Given the description of an element on the screen output the (x, y) to click on. 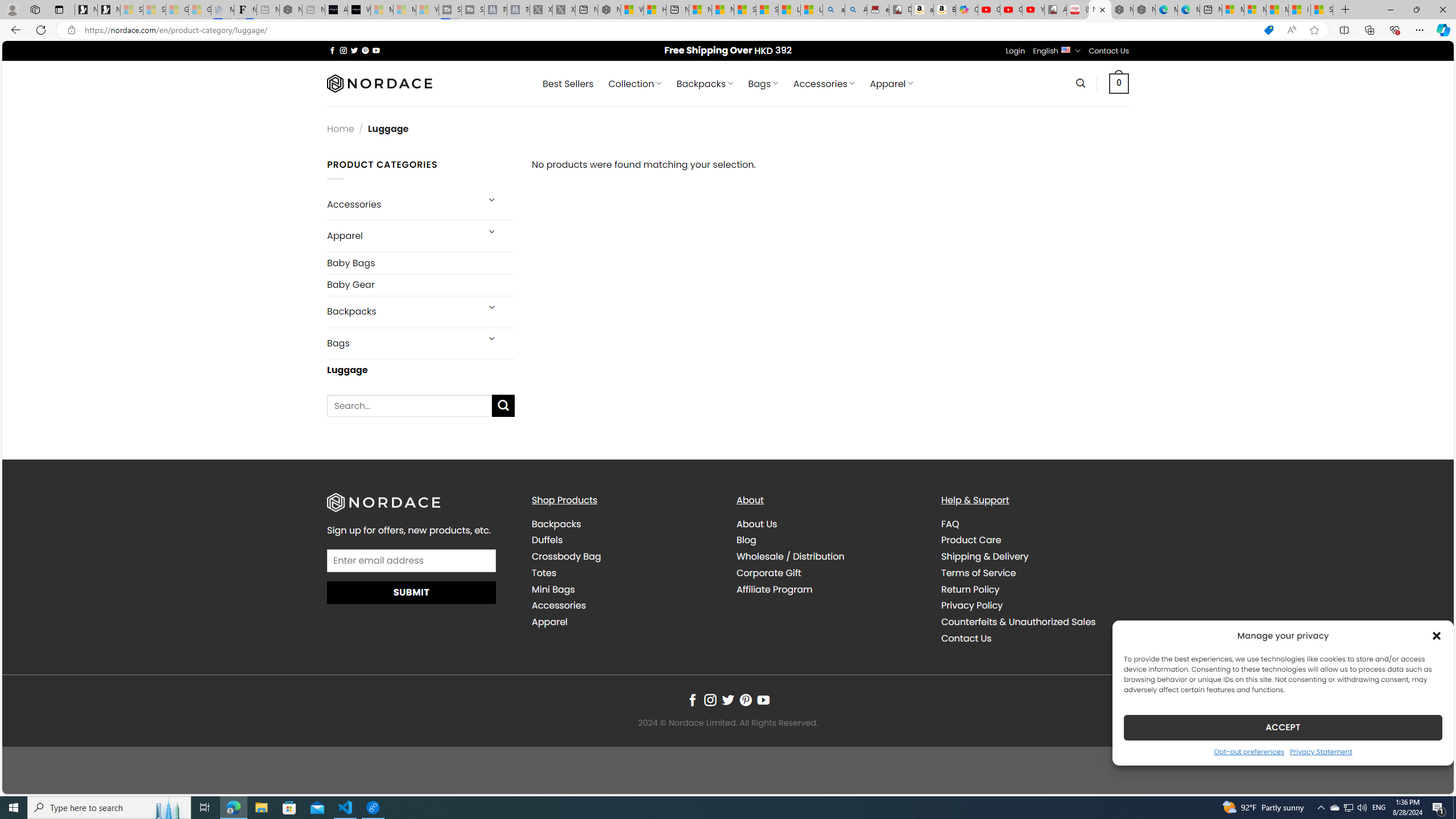
Blog (746, 540)
Baby Bags (421, 262)
Backpacks (625, 523)
Newsletter Sign Up (109, 9)
Terms of Service (978, 572)
Follow on Facebook (691, 700)
